Given the description of an element on the screen output the (x, y) to click on. 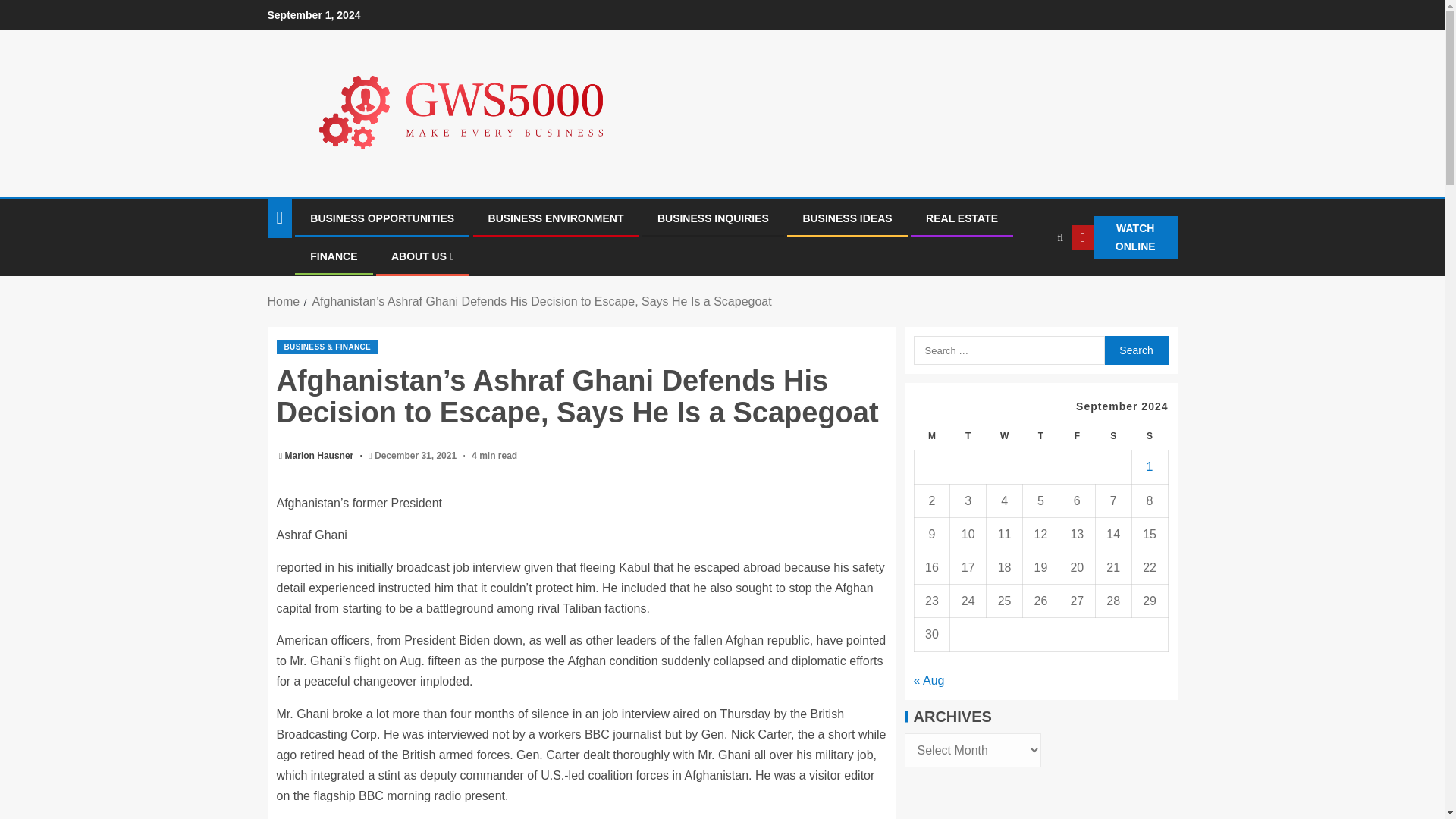
Tuesday (968, 436)
REAL ESTATE (961, 218)
BUSINESS IDEAS (846, 218)
Monday (932, 436)
Search (1029, 284)
FINANCE (333, 256)
WATCH ONLINE (1123, 238)
Wednesday (1005, 436)
BUSINESS INQUIRIES (713, 218)
BUSINESS OPPORTUNITIES (382, 218)
